Given the description of an element on the screen output the (x, y) to click on. 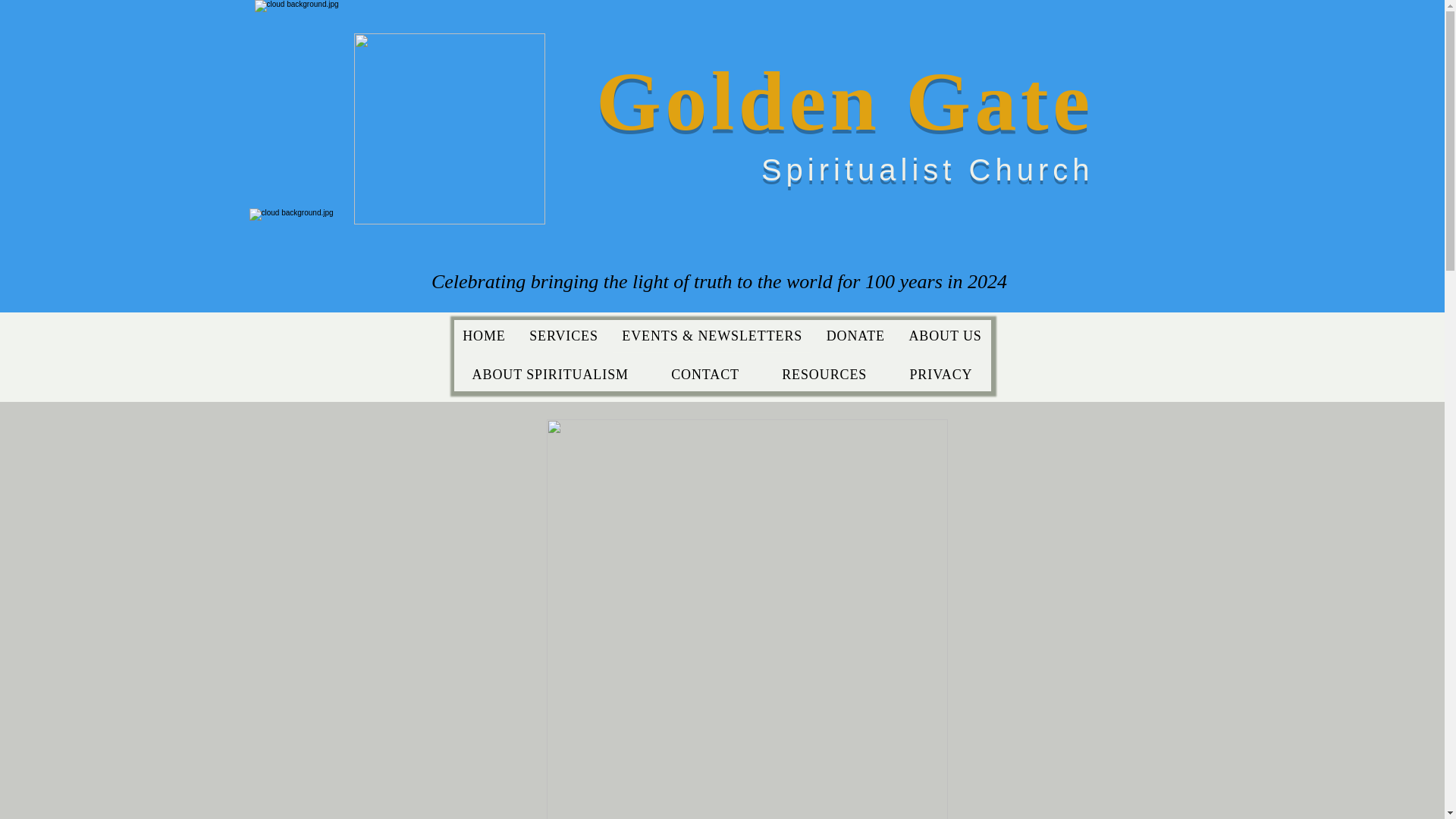
SERVICES (563, 336)
ABOUT SPIRITUALISM (549, 374)
CONTACT (704, 374)
HOME (482, 336)
Welcome.jpg (721, 233)
RESOURCES (823, 374)
Welcome.jpg (448, 128)
Welcome.jpg (725, 25)
DONATE (854, 336)
